Given the description of an element on the screen output the (x, y) to click on. 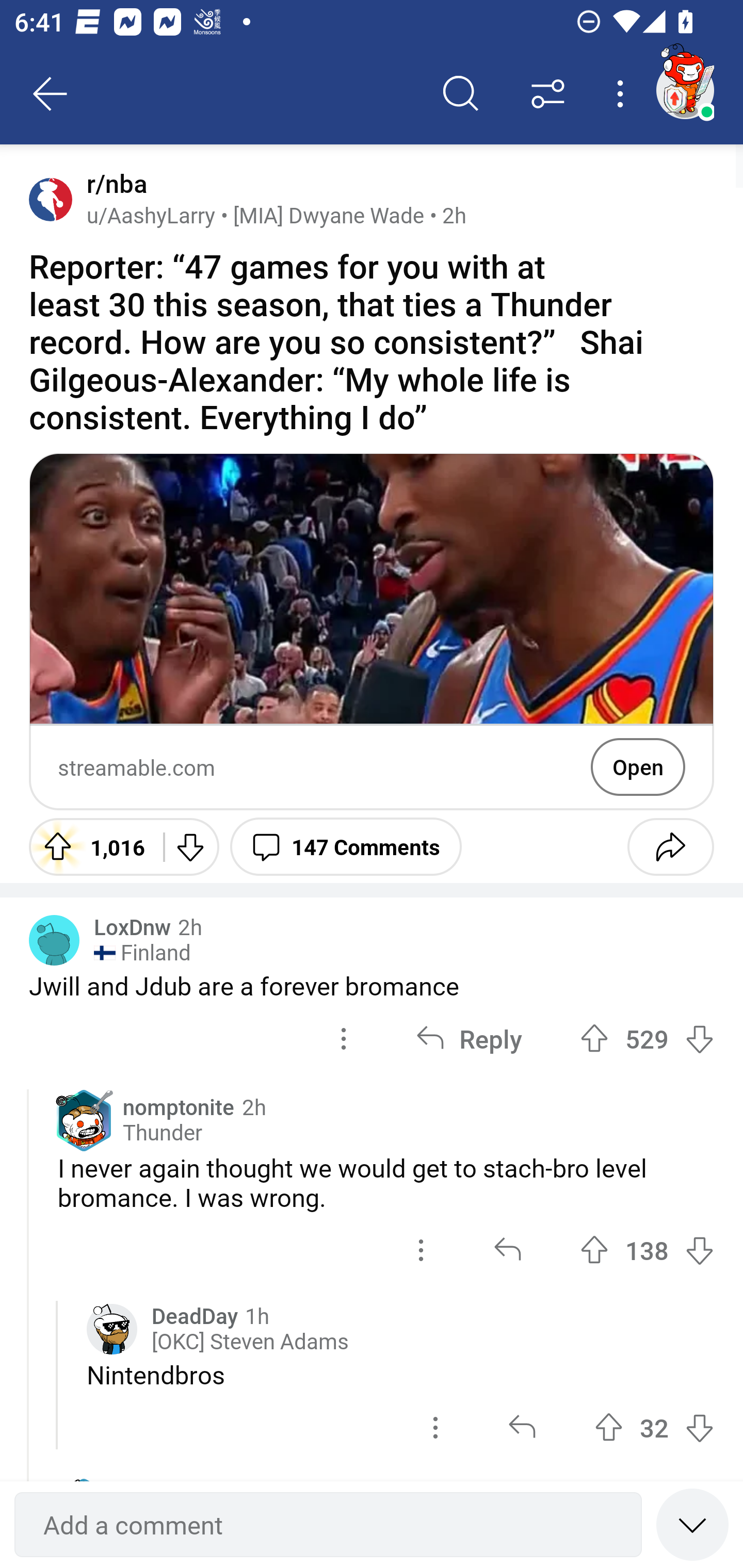
Back (50, 93)
TestAppium002 account (685, 90)
Search comments (460, 93)
Sort comments (547, 93)
More options (623, 93)
r/nba (113, 183)
Avatar (50, 199)
Preview Image streamable.com Open (371, 631)
Open (637, 767)
Upvote 1,016 (88, 846)
Downvote (189, 846)
147 Comments (346, 846)
Share (670, 846)
Avatar (53, 940)
￼ Finland (141, 952)
Jwill and Jdub are a forever bromance (371, 985)
options (343, 1038)
Reply (469, 1038)
Upvote 529 529 votes Downvote (647, 1038)
Thunder (162, 1132)
options (420, 1249)
Upvote 138 138 votes Downvote (647, 1249)
Custom avatar (111, 1329)
[OKC] Steven Adams (249, 1341)
Nintendbros (400, 1374)
options (435, 1428)
Upvote 32 32 votes Downvote (654, 1428)
Speed read (692, 1524)
Add a comment (327, 1524)
